Given the description of an element on the screen output the (x, y) to click on. 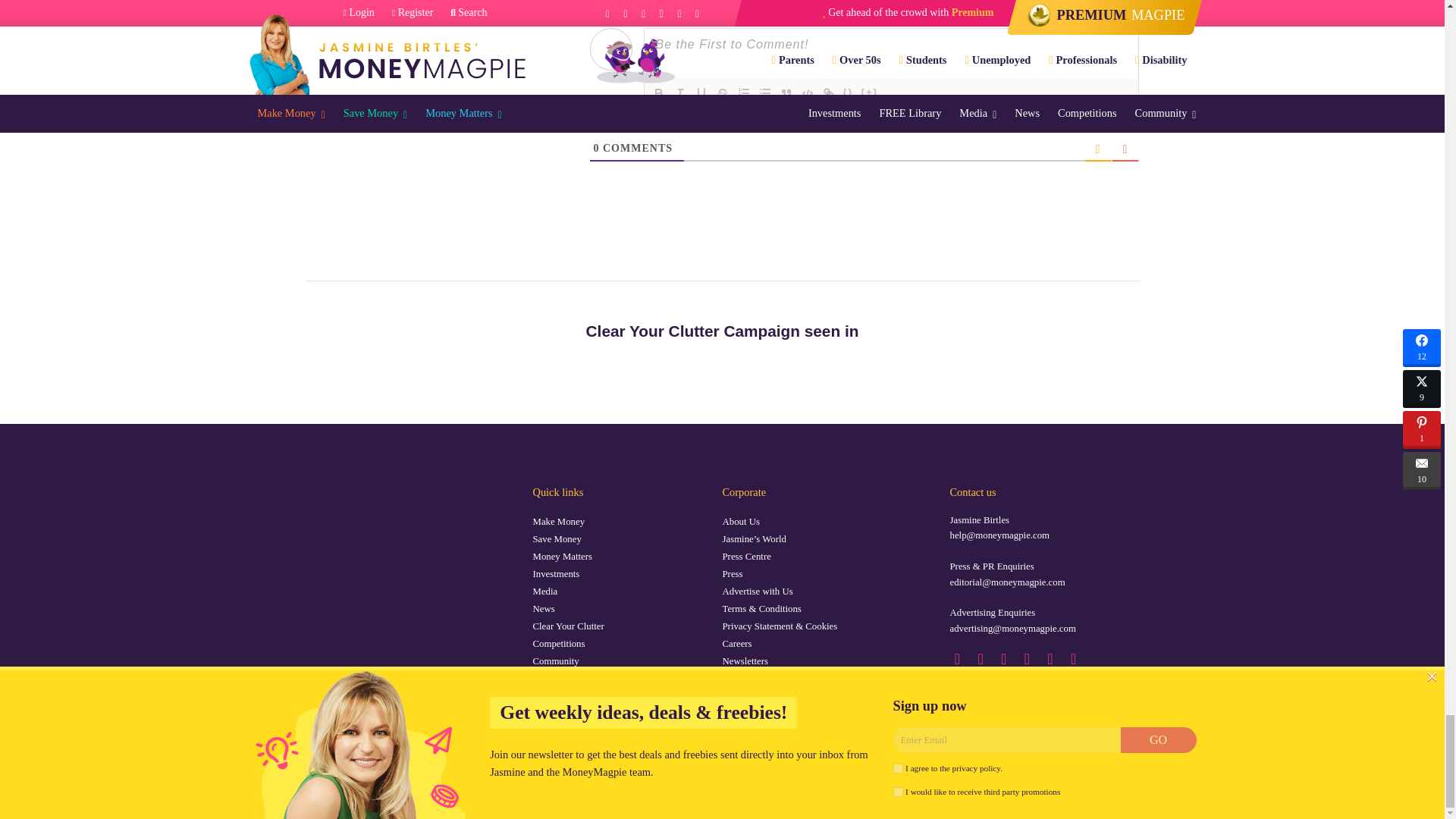
Bold (657, 93)
Code Block (806, 93)
Unordered List (764, 93)
Strike (721, 93)
Italic (679, 93)
Ordered List (743, 93)
Underline (700, 93)
Blockquote (785, 93)
